Given the description of an element on the screen output the (x, y) to click on. 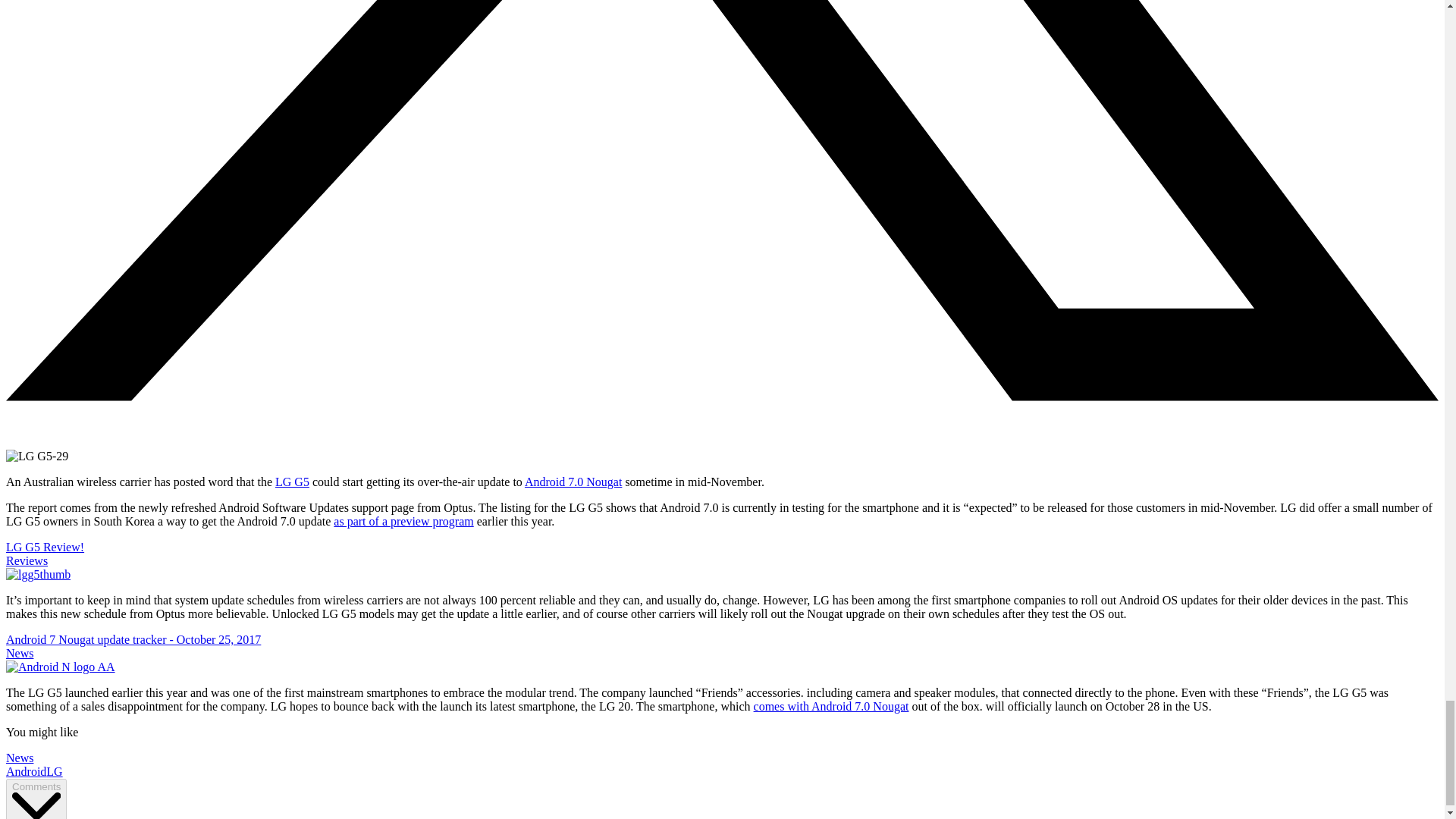
as part of a preview program (403, 521)
lgg5thumb (37, 574)
LG G5-29 (36, 456)
Android N logo AA (60, 667)
News (19, 757)
comes with Android 7.0 Nougat (831, 706)
LG G5 (291, 481)
Android 7.0 Nougat (572, 481)
Android (25, 771)
LG (54, 771)
